Given the description of an element on the screen output the (x, y) to click on. 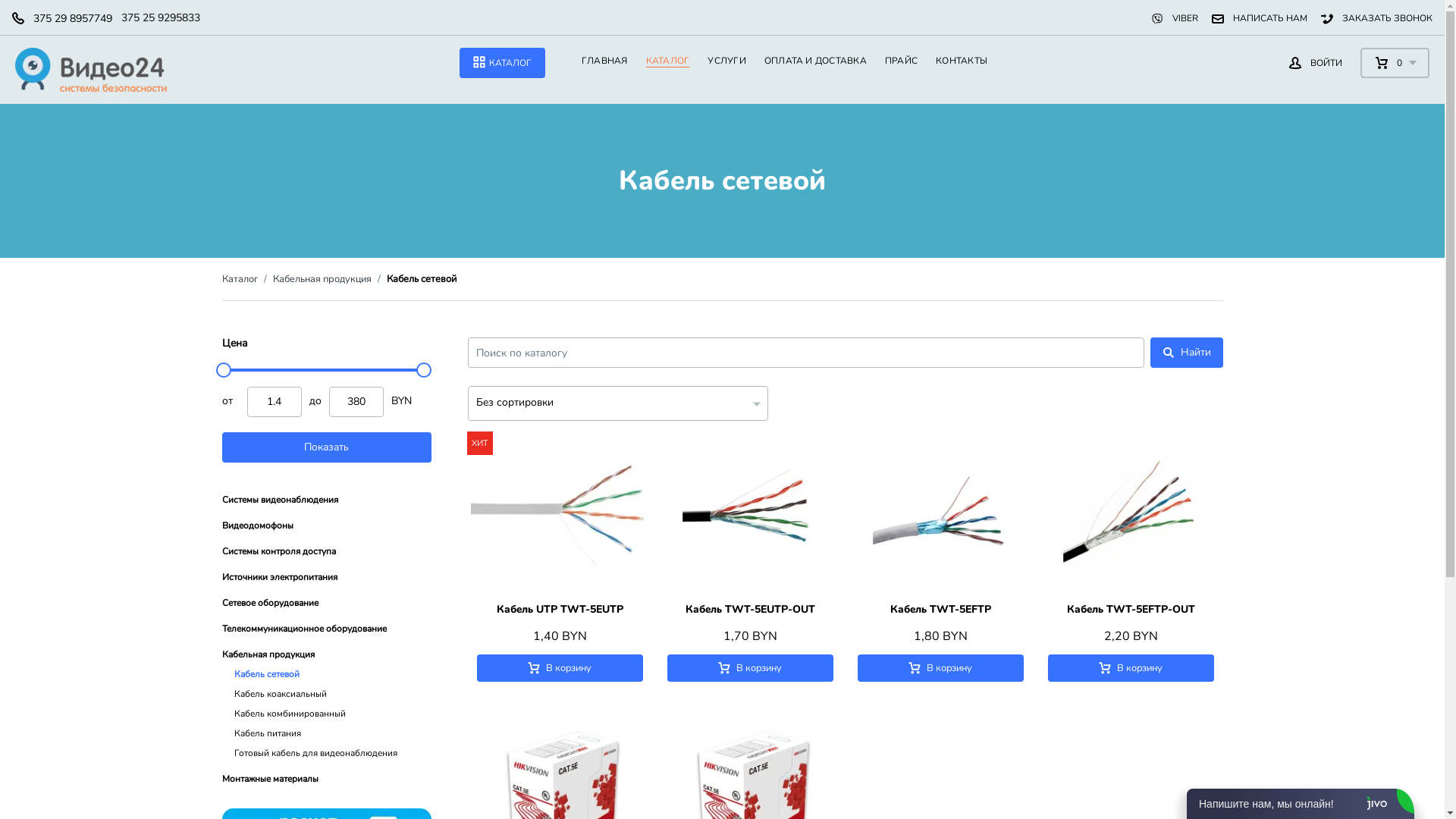
375 25 9295833 Element type: text (156, 17)
VIBER Element type: text (1174, 18)
375 29 8957749 Element type: text (68, 18)
0 Element type: text (1394, 62)
